Given the description of an element on the screen output the (x, y) to click on. 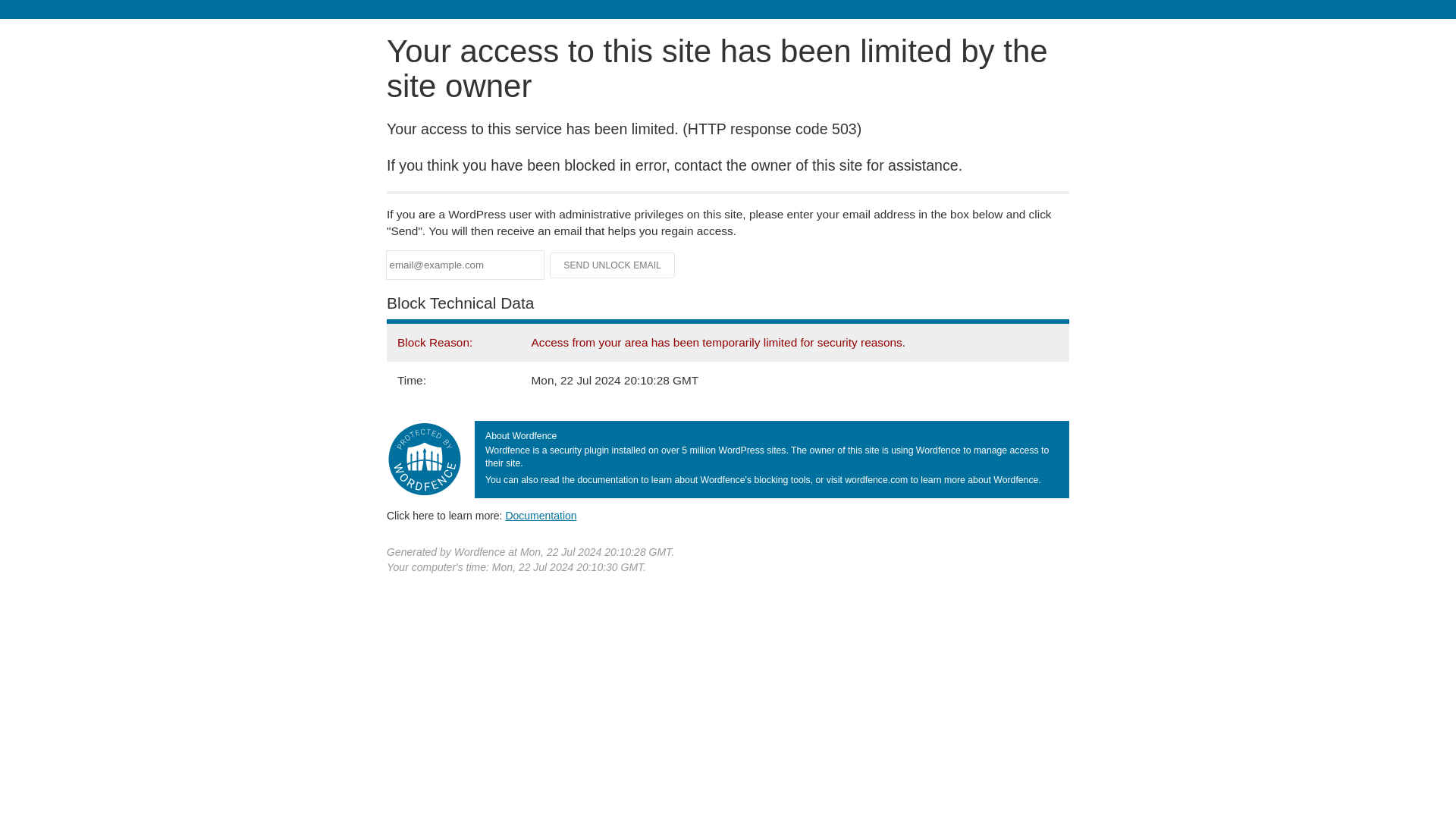
Send Unlock Email (612, 265)
Send Unlock Email (612, 265)
Documentation (540, 515)
